Given the description of an element on the screen output the (x, y) to click on. 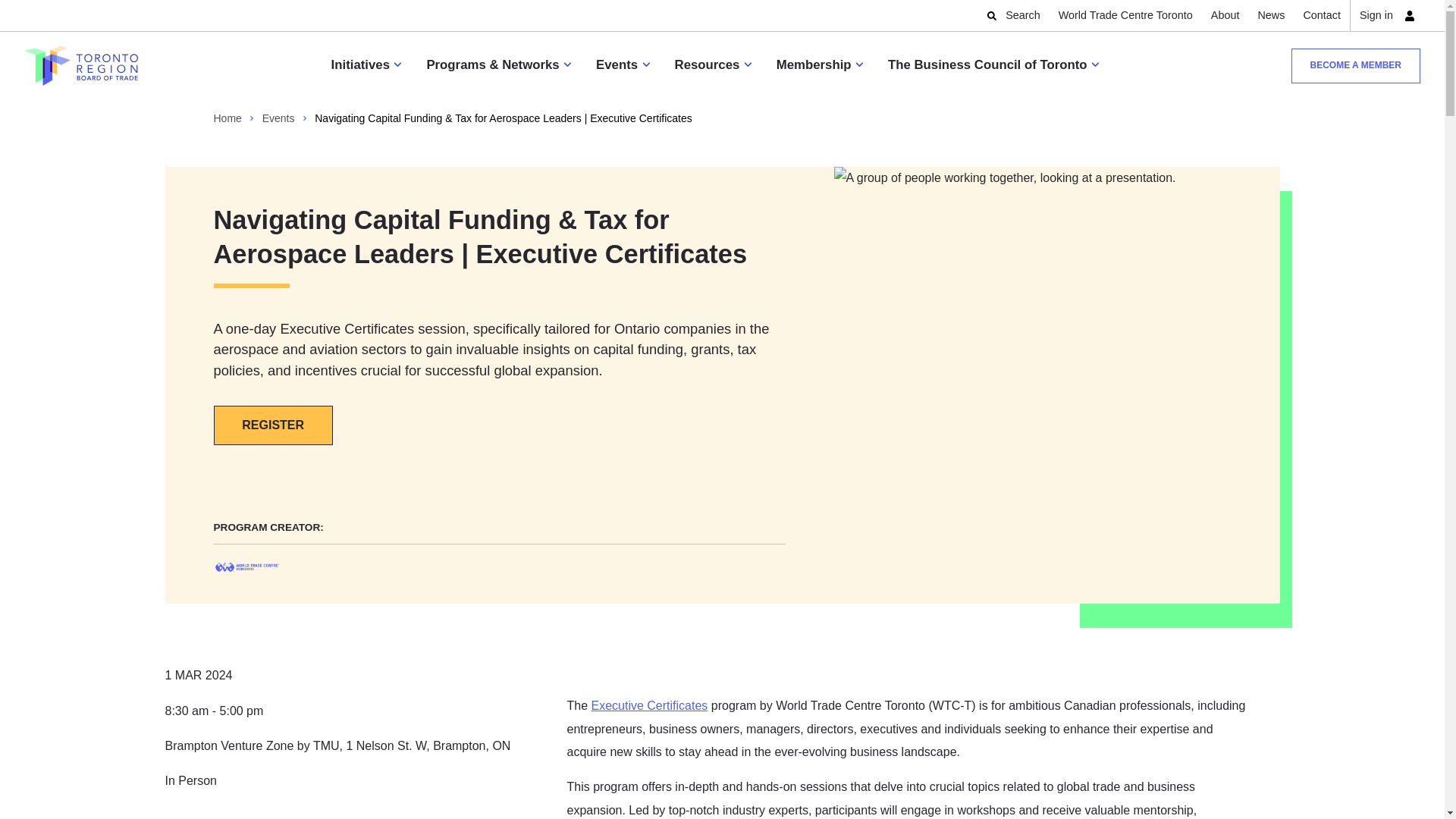
Toronto Regional Board of Trade Logo (81, 65)
Resources (712, 65)
Initiatives (365, 65)
Search (1015, 15)
World Trade Centre Toronto (1125, 15)
Sign in (1384, 15)
Events (622, 65)
News (1270, 15)
Contact (1321, 15)
About (1225, 15)
Toronto Regional Board of Trade Logo (81, 65)
